Given the description of an element on the screen output the (x, y) to click on. 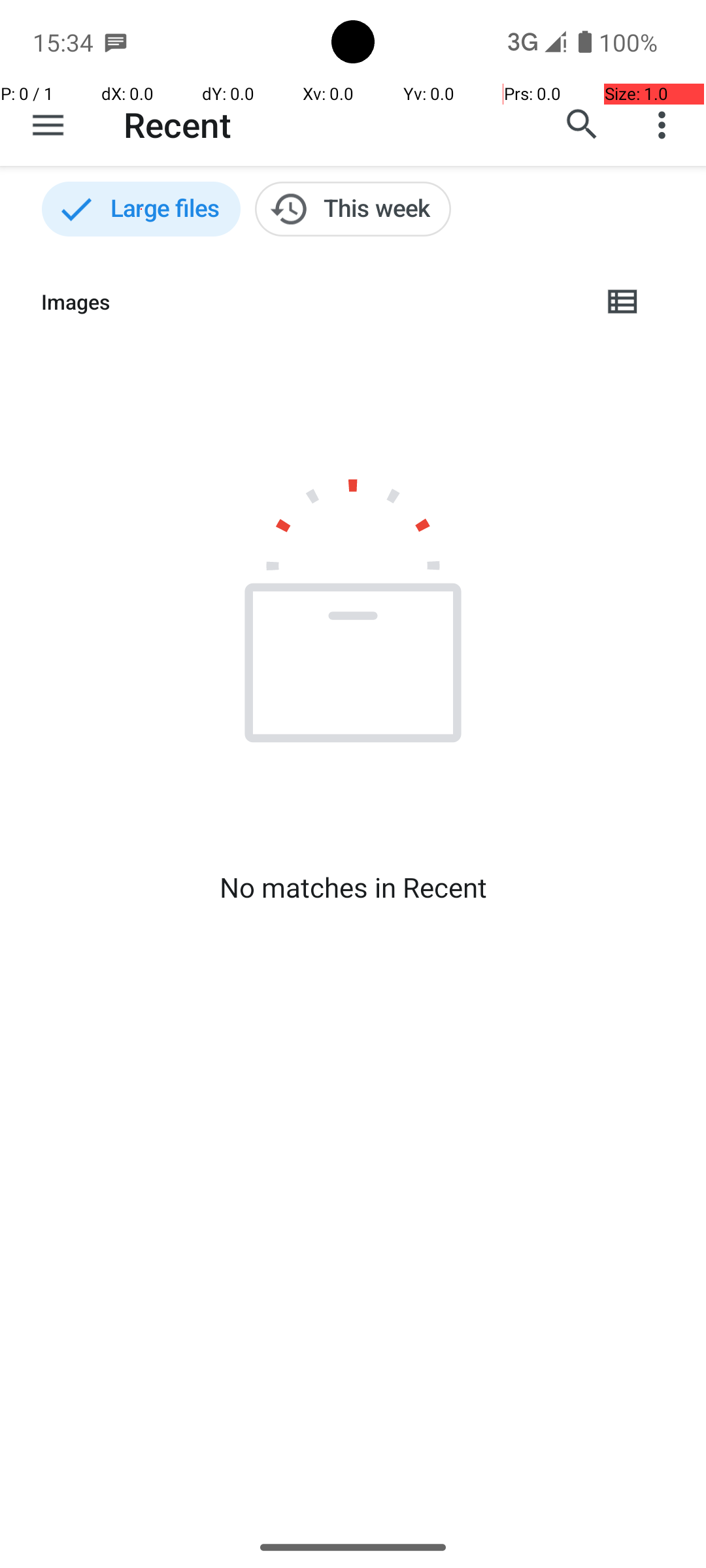
No matches in Recent Element type: android.widget.TextView (352, 886)
